Given the description of an element on the screen output the (x, y) to click on. 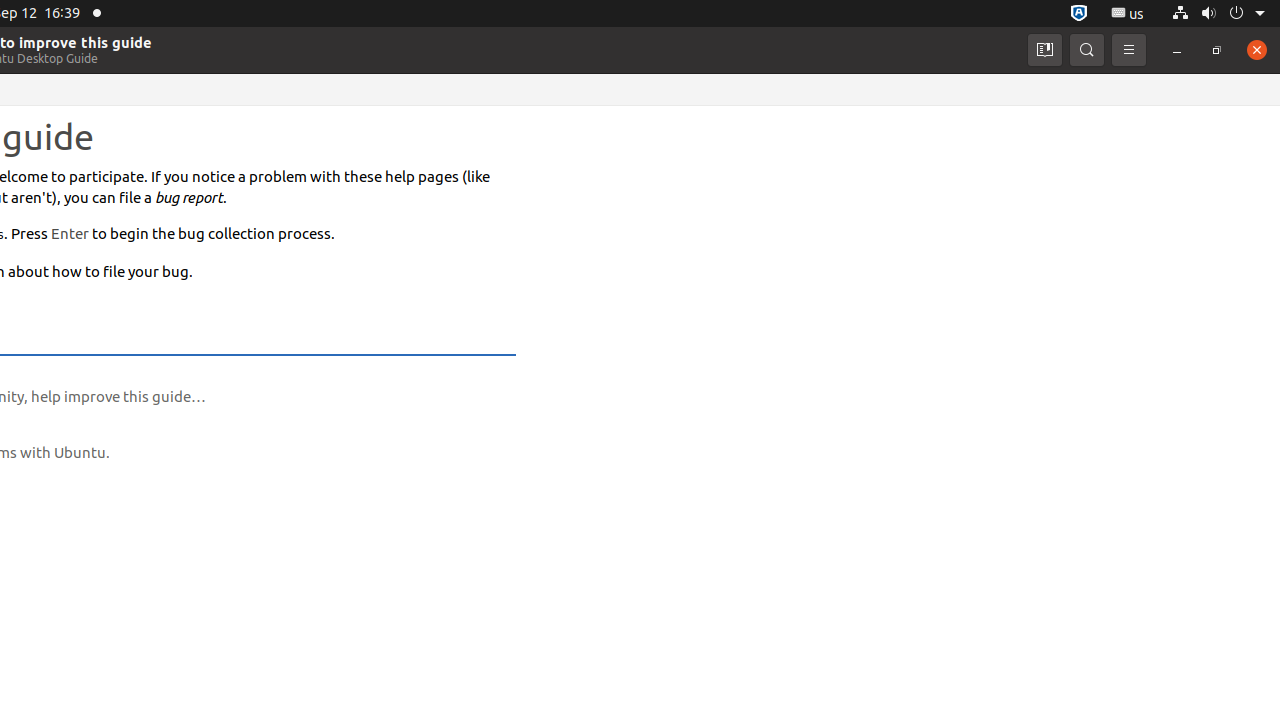
Minimize Element type: push-button (1177, 50)
Close Element type: push-button (1257, 50)
